Given the description of an element on the screen output the (x, y) to click on. 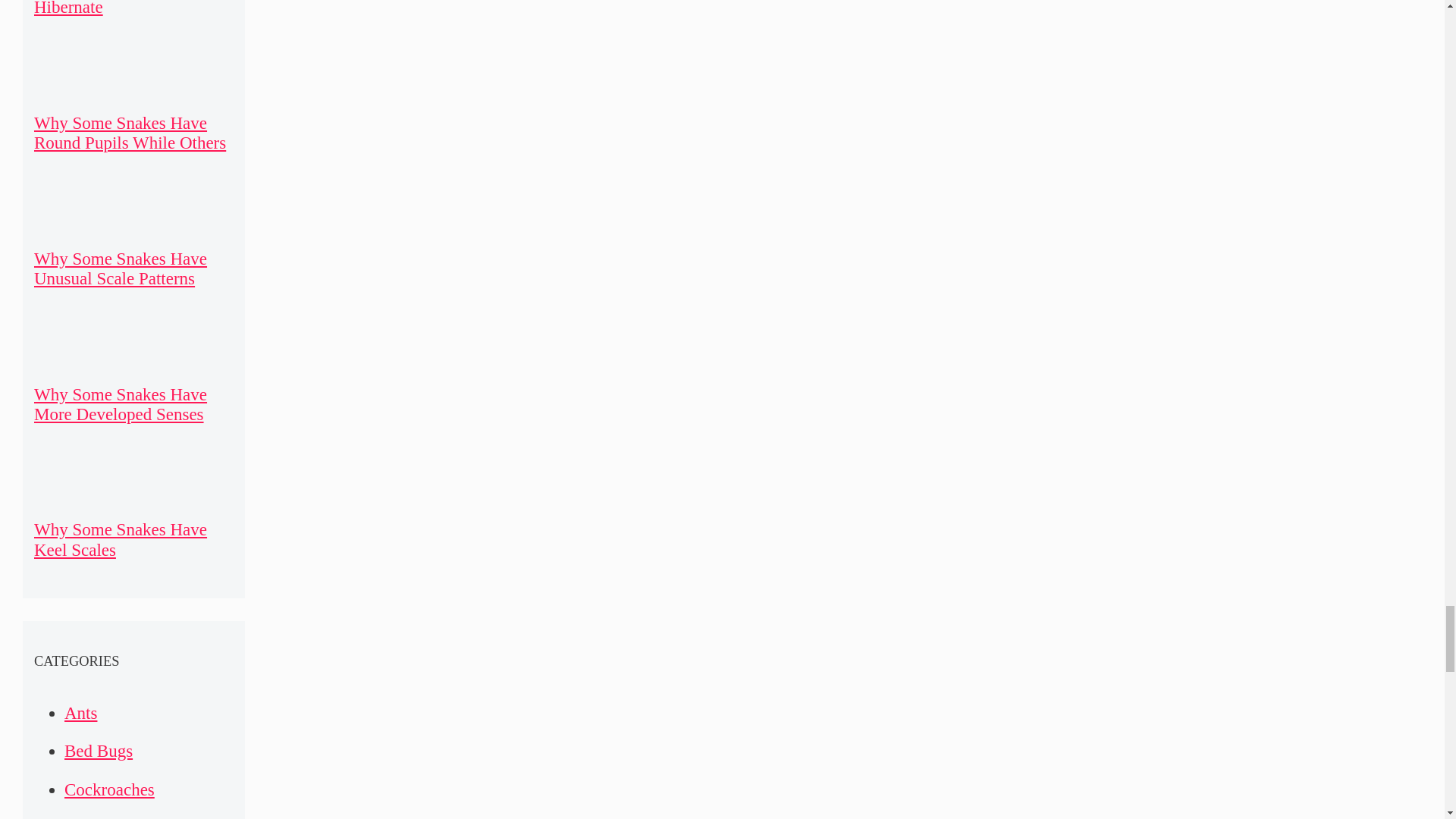
Why Some Snakes Hibernate (99, 8)
